Given the description of an element on the screen output the (x, y) to click on. 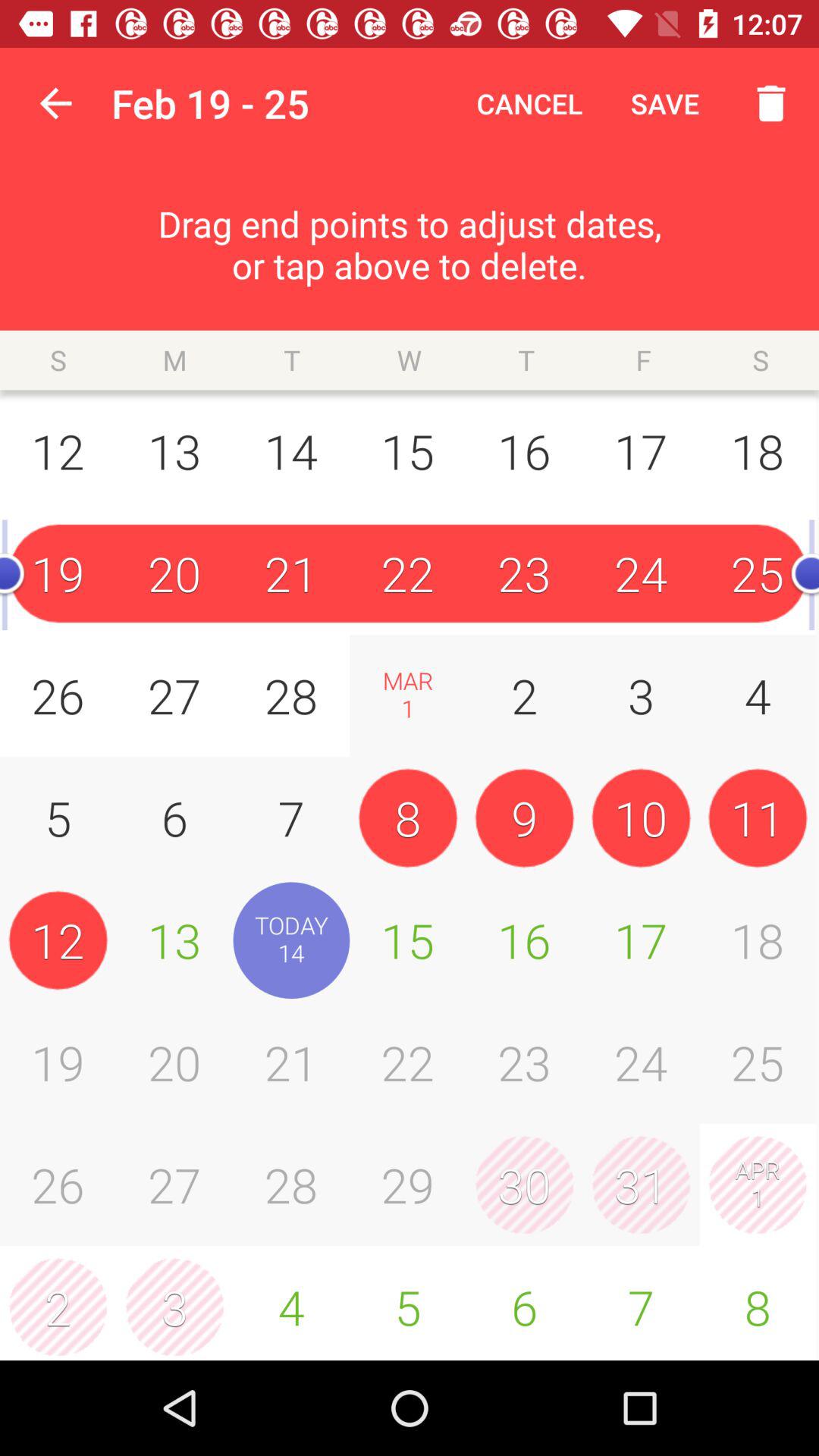
jump until cancel item (529, 103)
